Given the description of an element on the screen output the (x, y) to click on. 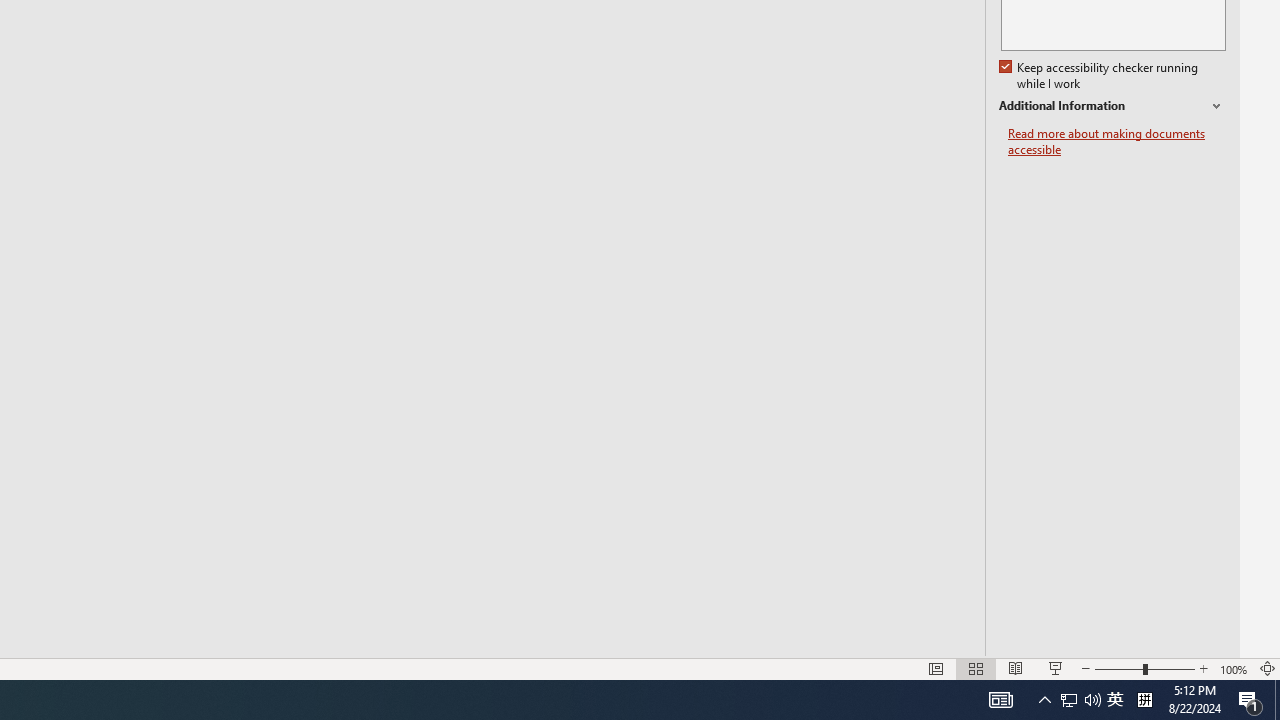
Additional Information (1112, 106)
Zoom 100% (1234, 668)
Keep accessibility checker running while I work (1099, 76)
Read more about making documents accessible (1117, 142)
